Given the description of an element on the screen output the (x, y) to click on. 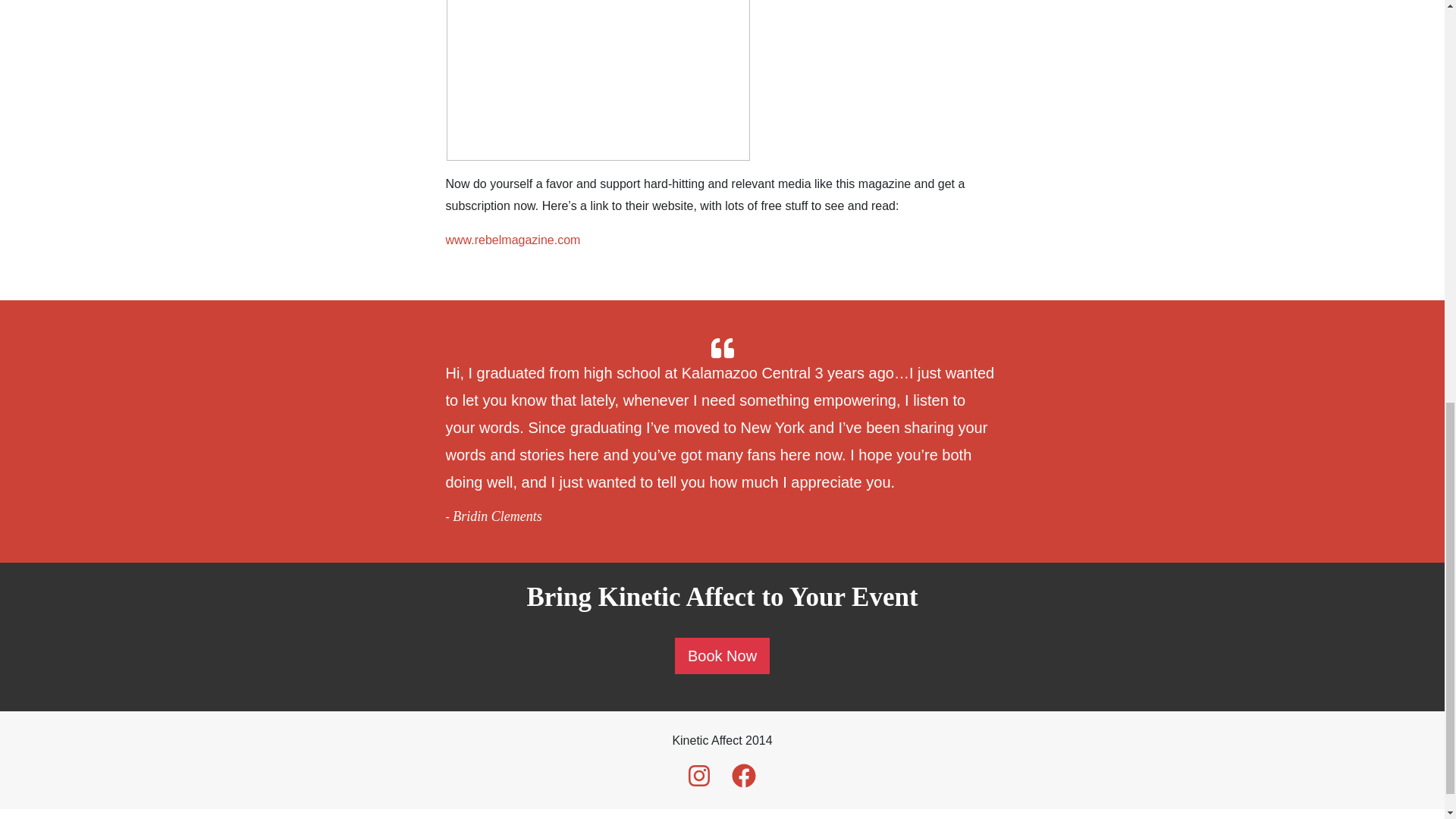
www.rebelmagazine.com (512, 239)
Book Now (722, 656)
